Given the description of an element on the screen output the (x, y) to click on. 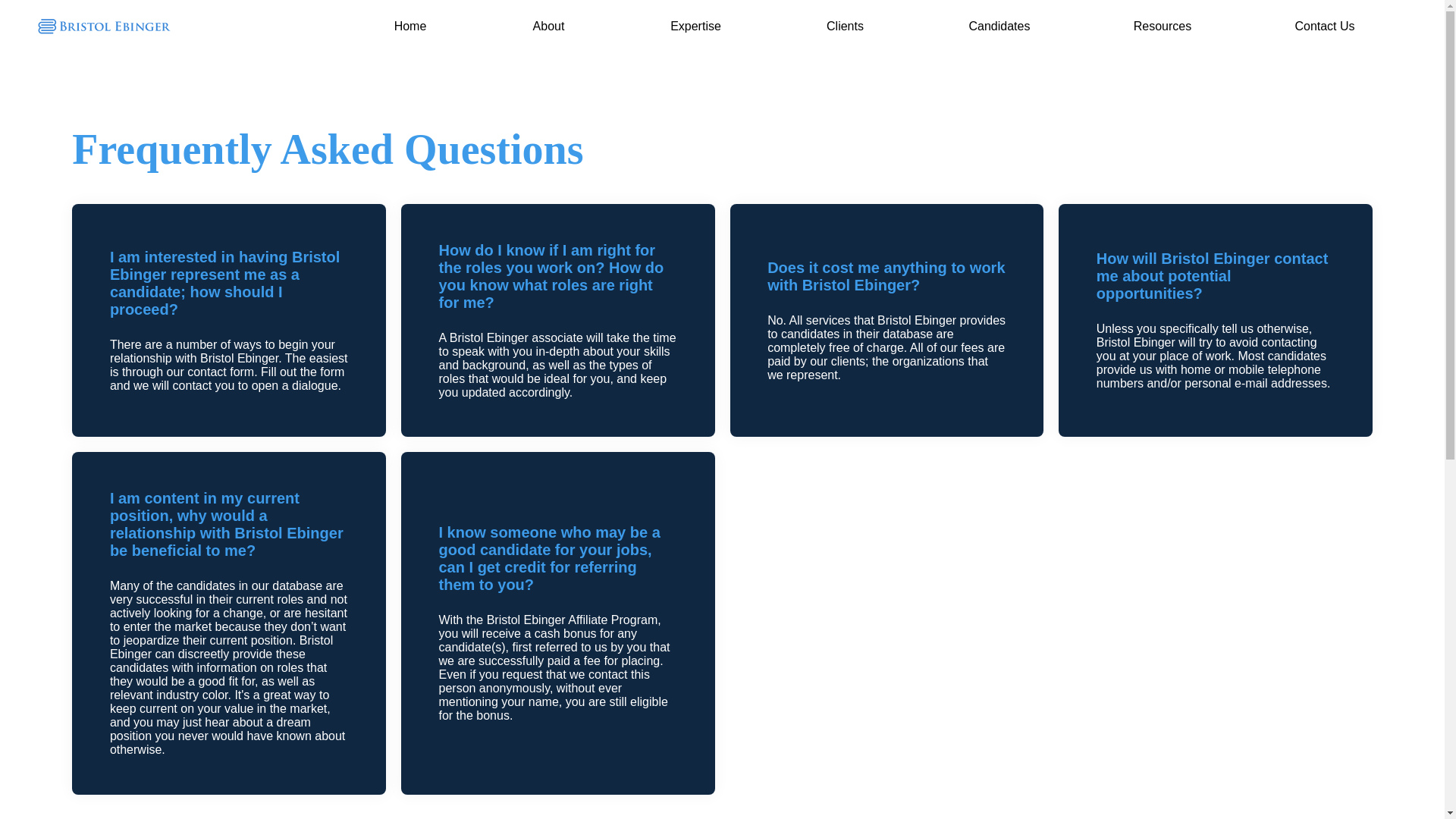
Salesloft Live Website Tracking  (308, 22)
Home (409, 26)
Resources (1162, 26)
Contact Us (1324, 26)
